Given the description of an element on the screen output the (x, y) to click on. 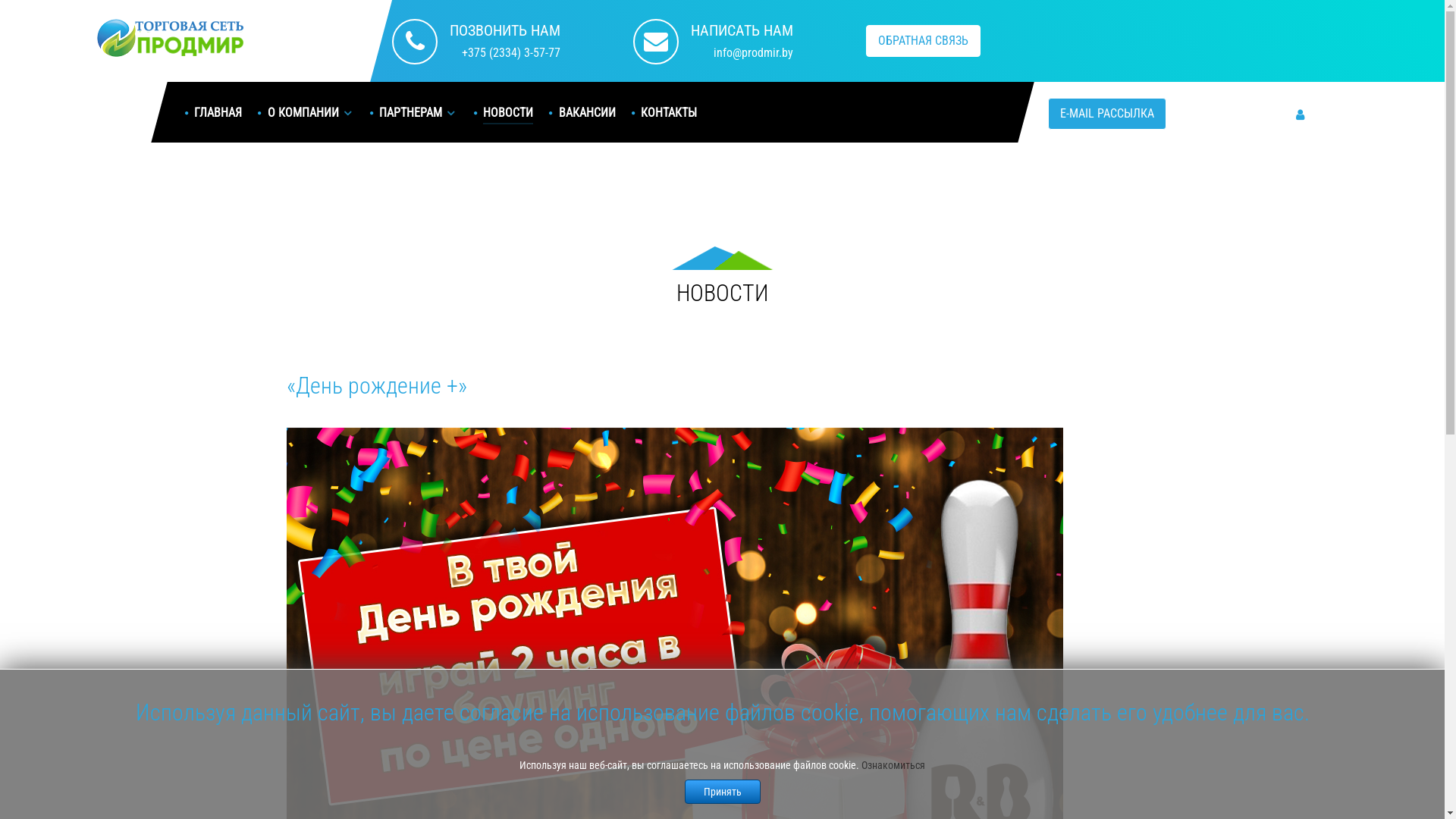
+375 (2334) 3-57-77 Element type: text (504, 52)
info@prodmir.by Element type: text (741, 52)
